Given the description of an element on the screen output the (x, y) to click on. 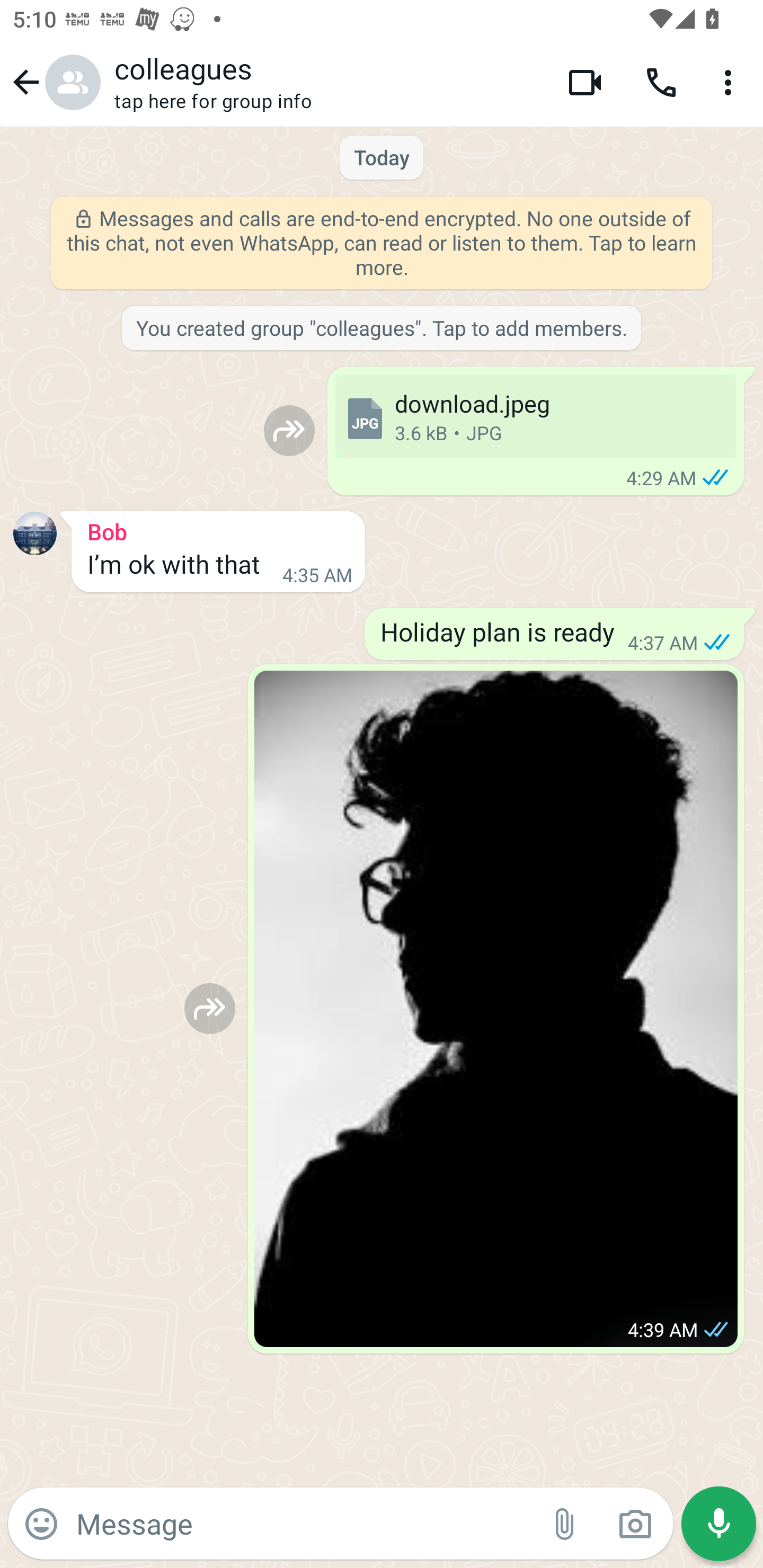
colleagues tap here for group info (327, 82)
Navigate up (54, 82)
Video call (585, 81)
Voice call (661, 81)
More options (731, 81)
download.jpeg 3.6 kB • JPG (535, 415)
Forward to… (288, 430)
Profile picture for Bob (34, 533)
Bob (217, 529)
View photo (495, 1008)
Forward to… (209, 1008)
Emoji (41, 1523)
Attach (565, 1523)
Camera (634, 1523)
Message (303, 1523)
